Given the description of an element on the screen output the (x, y) to click on. 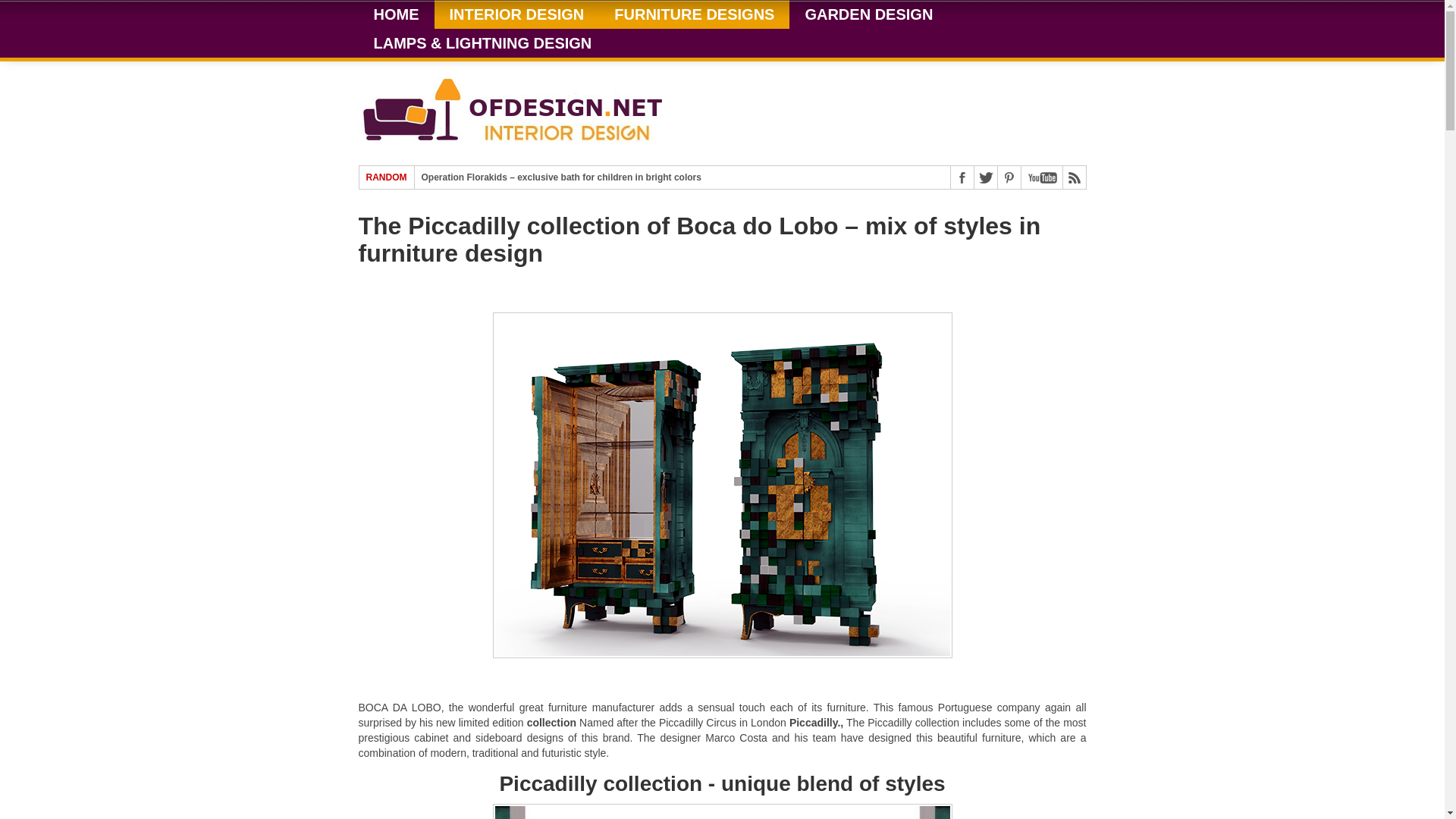
FURNITURE DESIGNS (693, 14)
HOME (395, 14)
Sideboards (722, 811)
INTERIOR DESIGN (515, 14)
GARDEN DESIGN (868, 14)
